Given the description of an element on the screen output the (x, y) to click on. 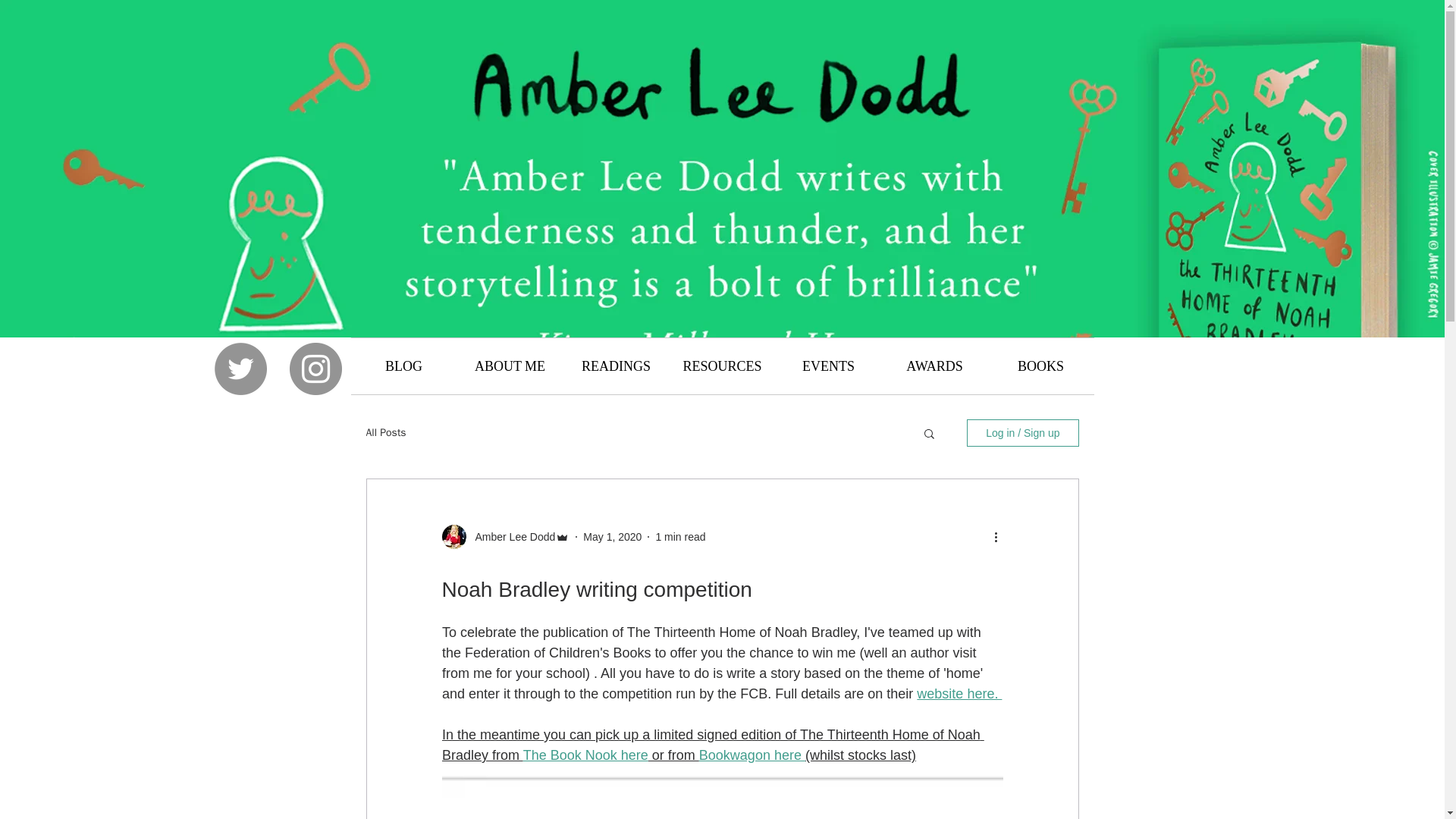
1 min read (679, 536)
EVENTS (827, 365)
website here.  (959, 693)
ABOUT ME (509, 365)
READINGS (615, 365)
Bookwagon here  (751, 754)
The Book Nook here (584, 754)
Amber Lee Dodd (509, 537)
AWARDS (933, 365)
BLOG (403, 365)
May 1, 2020 (612, 536)
RESOURCES (721, 365)
All Posts (385, 432)
BOOKS (1040, 365)
